Given the description of an element on the screen output the (x, y) to click on. 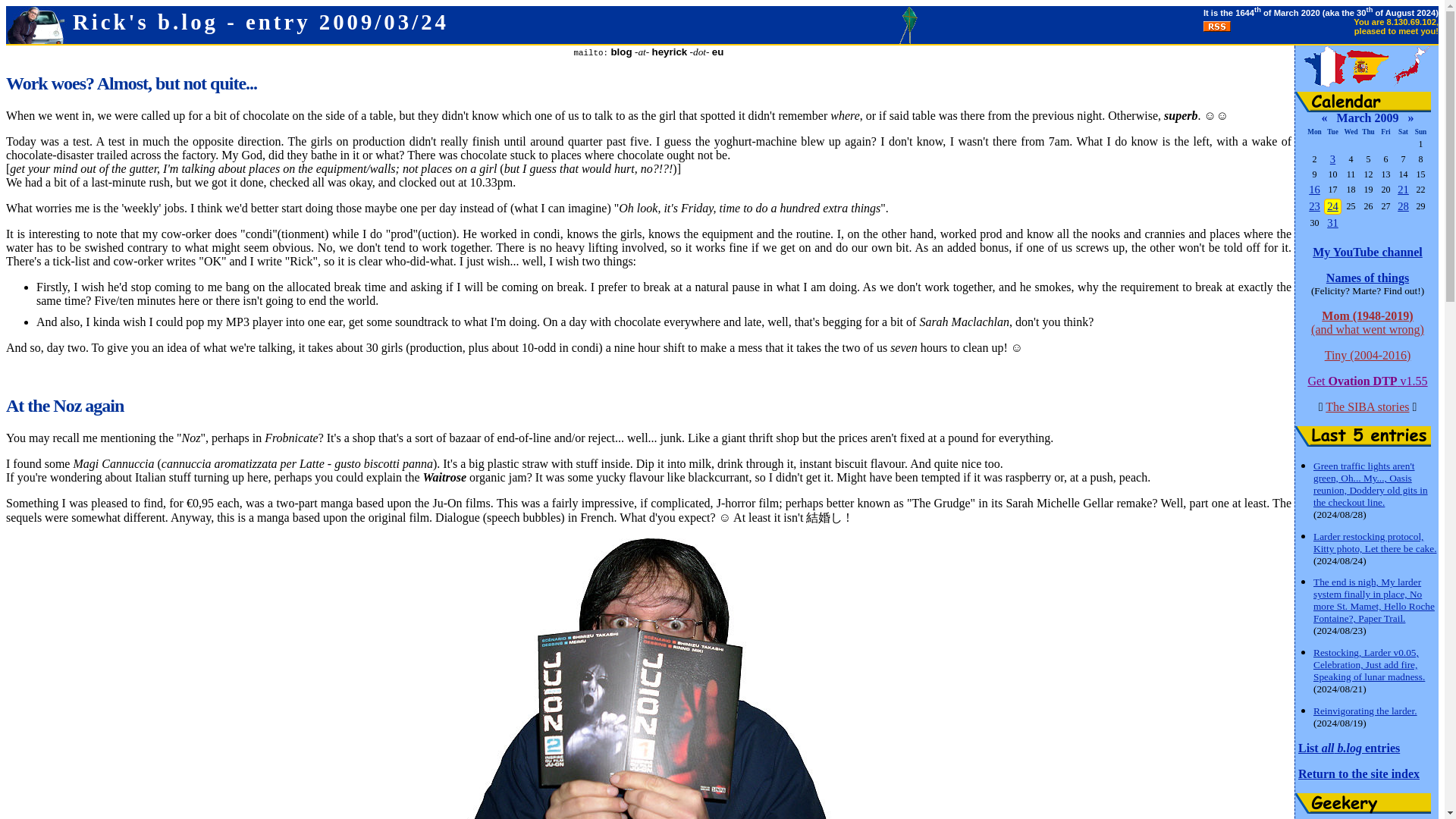
Last 5 entries (1363, 435)
The SIBA stories (1366, 406)
16 (1314, 189)
A dummy entry... (1403, 189)
Calendar (1363, 101)
My YouTube channel (1367, 251)
A more in-depth video conversion process. (1403, 205)
23 (1314, 205)
21 (1403, 189)
